Given the description of an element on the screen output the (x, y) to click on. 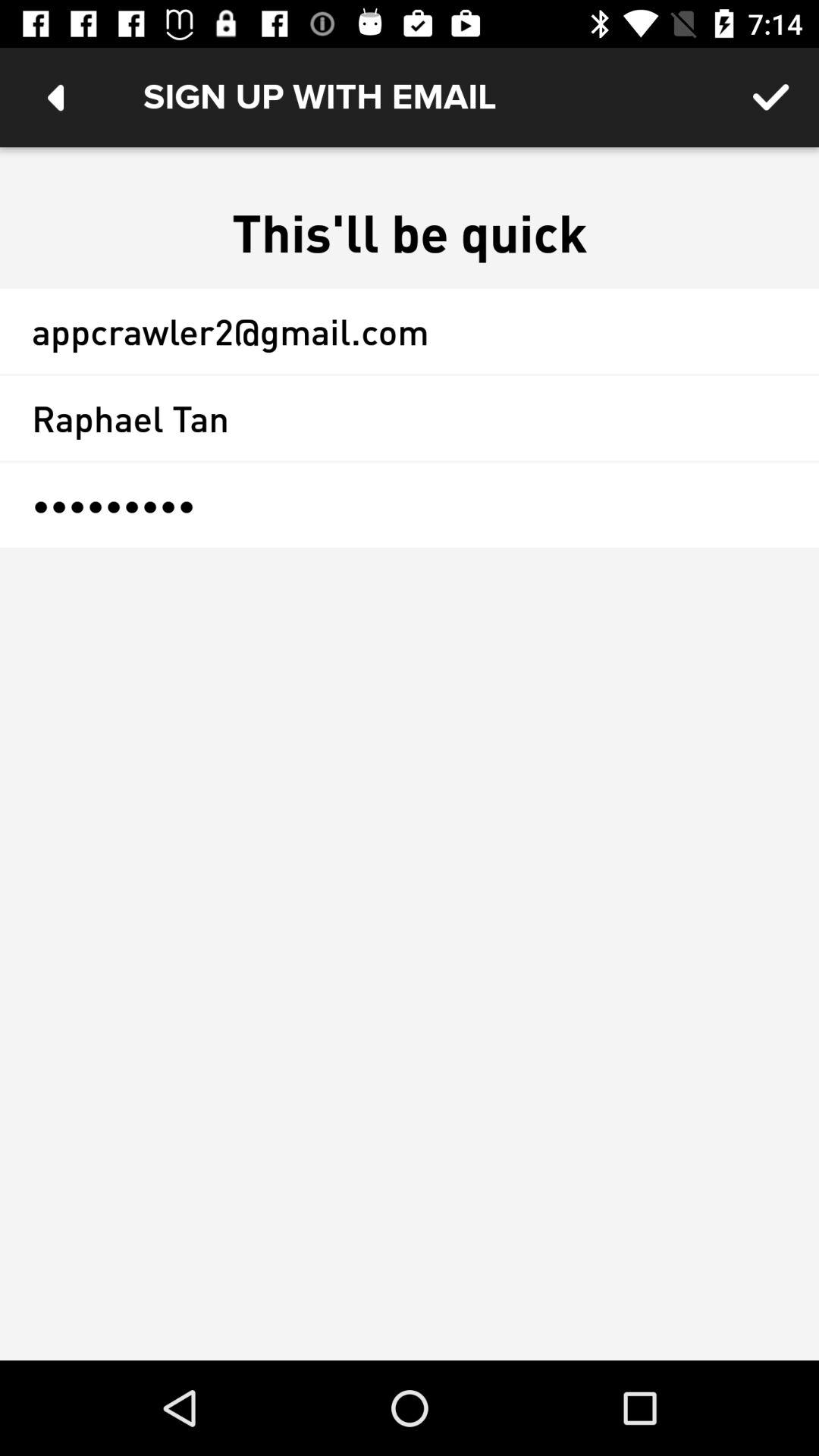
choose icon next to sign up with item (55, 97)
